Given the description of an element on the screen output the (x, y) to click on. 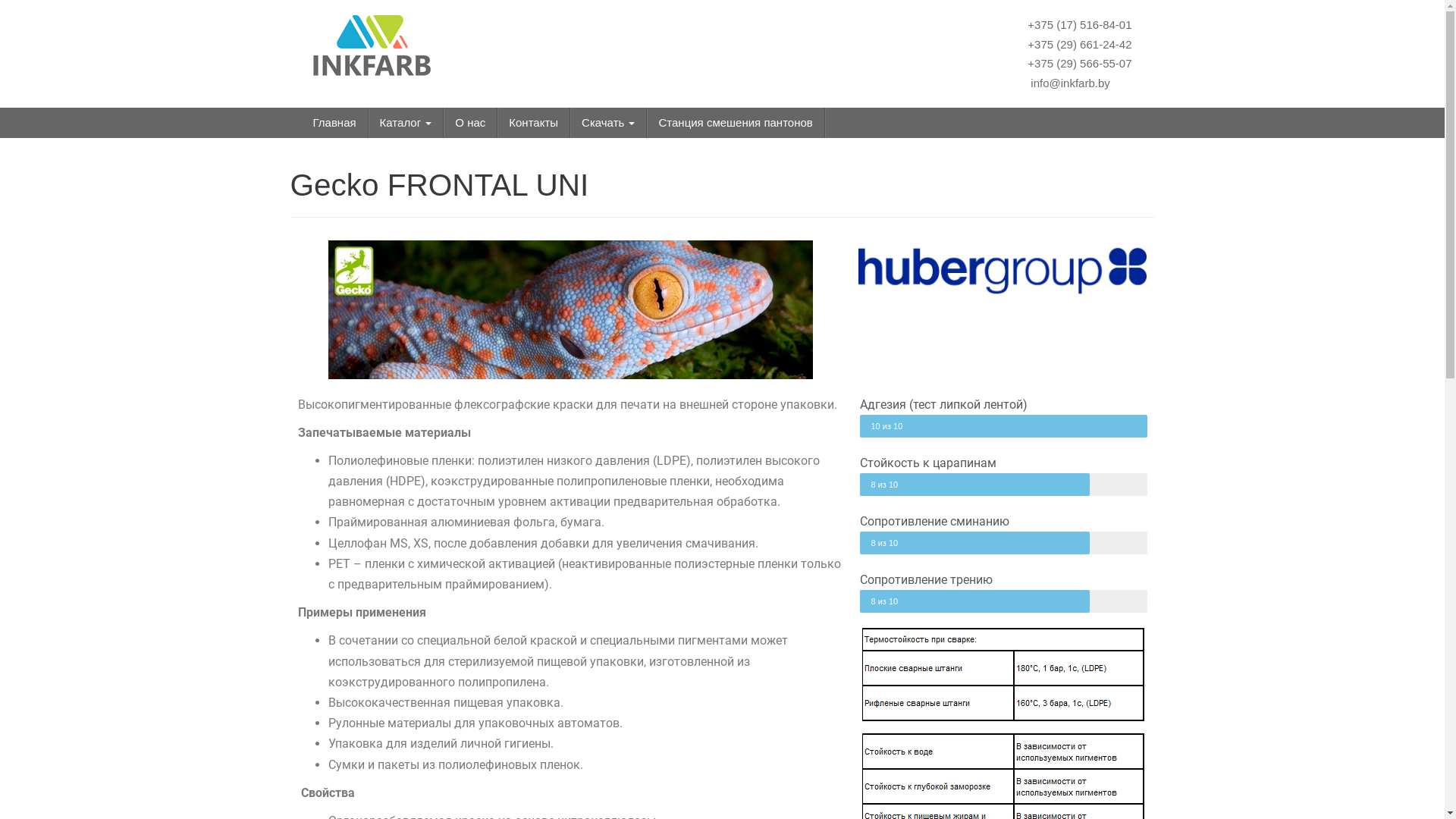
info@inkfarb.by Element type: text (1068, 81)
